Given the description of an element on the screen output the (x, y) to click on. 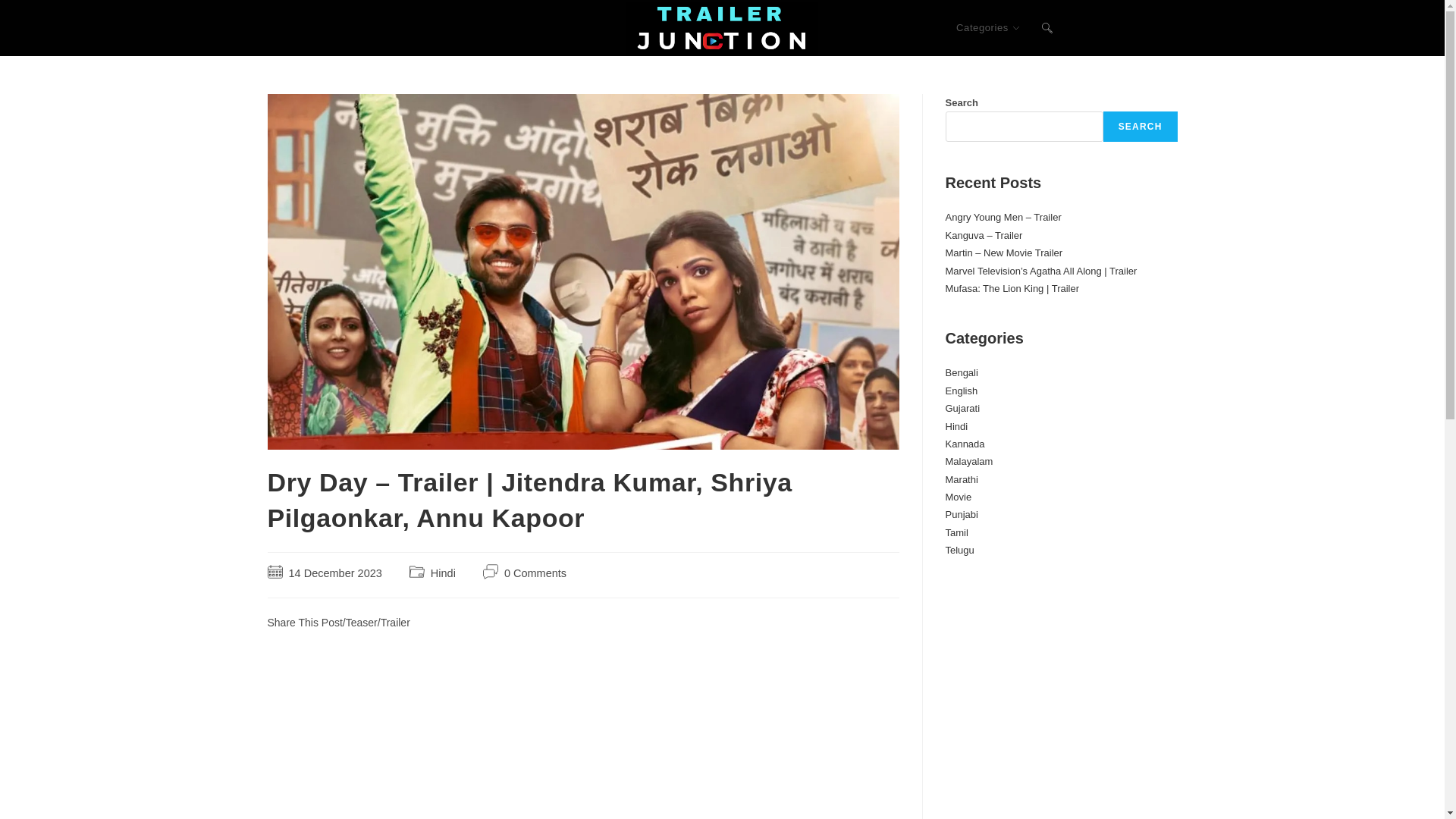
0 Comments (534, 573)
Hindi (442, 573)
Categories (987, 28)
